Given the description of an element on the screen output the (x, y) to click on. 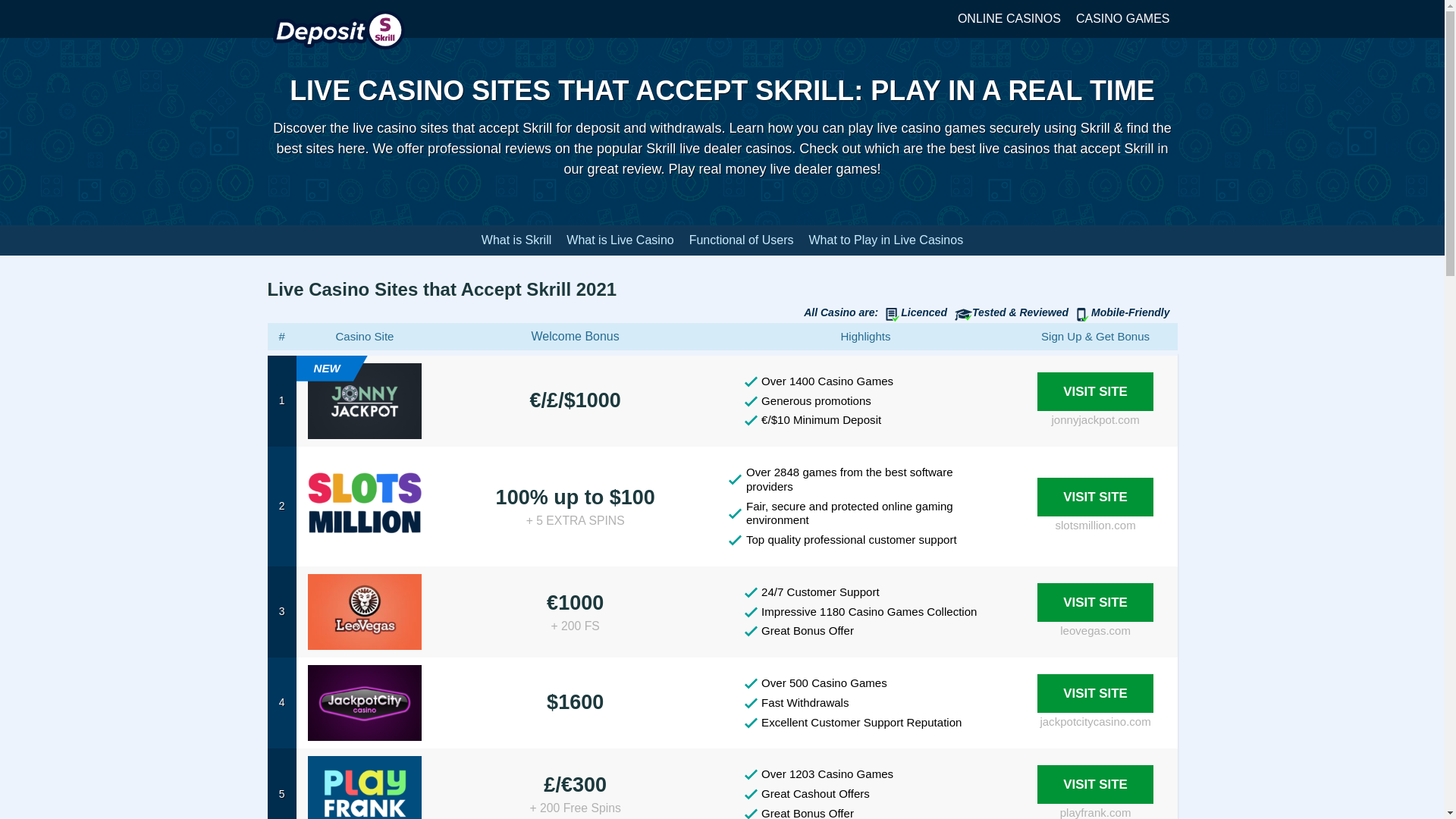
Functional of Users (740, 239)
VISIT SITE (1094, 602)
ONLINE CASINOS (1009, 18)
VISIT SITE (1094, 783)
VISIT SITE (1094, 391)
CASINO GAMES (1122, 18)
What to Play in Live Casinos (886, 239)
VISIT SITE (1094, 496)
VISIT SITE (1094, 693)
What is Skrill (516, 239)
